Given the description of an element on the screen output the (x, y) to click on. 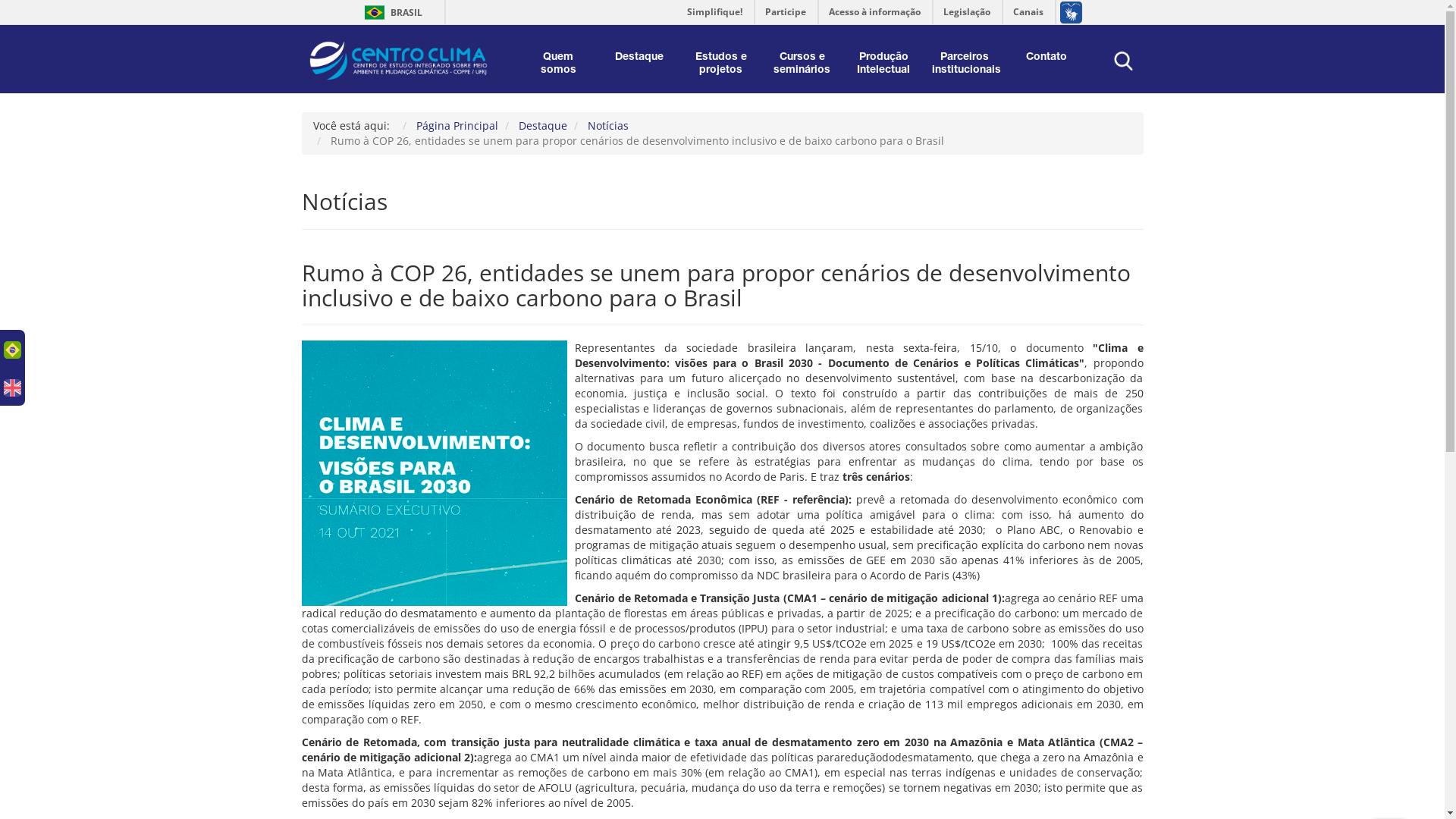
Destaque Element type: text (542, 125)
Destaque Element type: text (639, 57)
BRASIL Element type: text (373, 12)
Contato Element type: text (1046, 57)
Parceiros institucionais Element type: text (964, 64)
Estudos e projetos Element type: text (720, 64)
Quem somos Element type: text (557, 64)
